Given the description of an element on the screen output the (x, y) to click on. 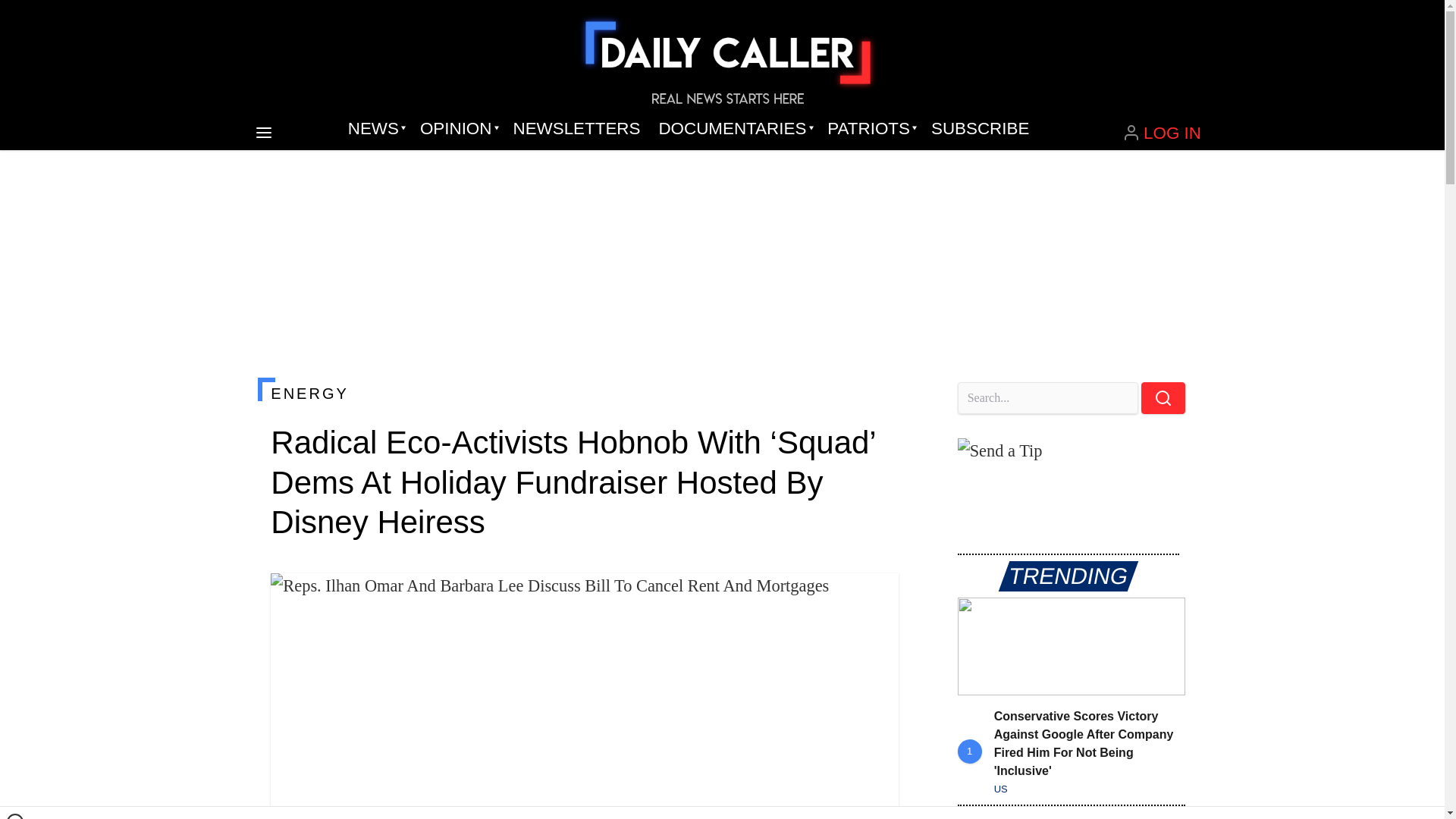
DOCUMENTARIES (733, 128)
NEWS (374, 128)
NEWSLETTERS (576, 128)
SUBSCRIBE (979, 128)
ENERGY (584, 393)
Toggle fullscreen (874, 596)
Close window (14, 816)
PATRIOTS (869, 128)
OPINION (456, 128)
